Given the description of an element on the screen output the (x, y) to click on. 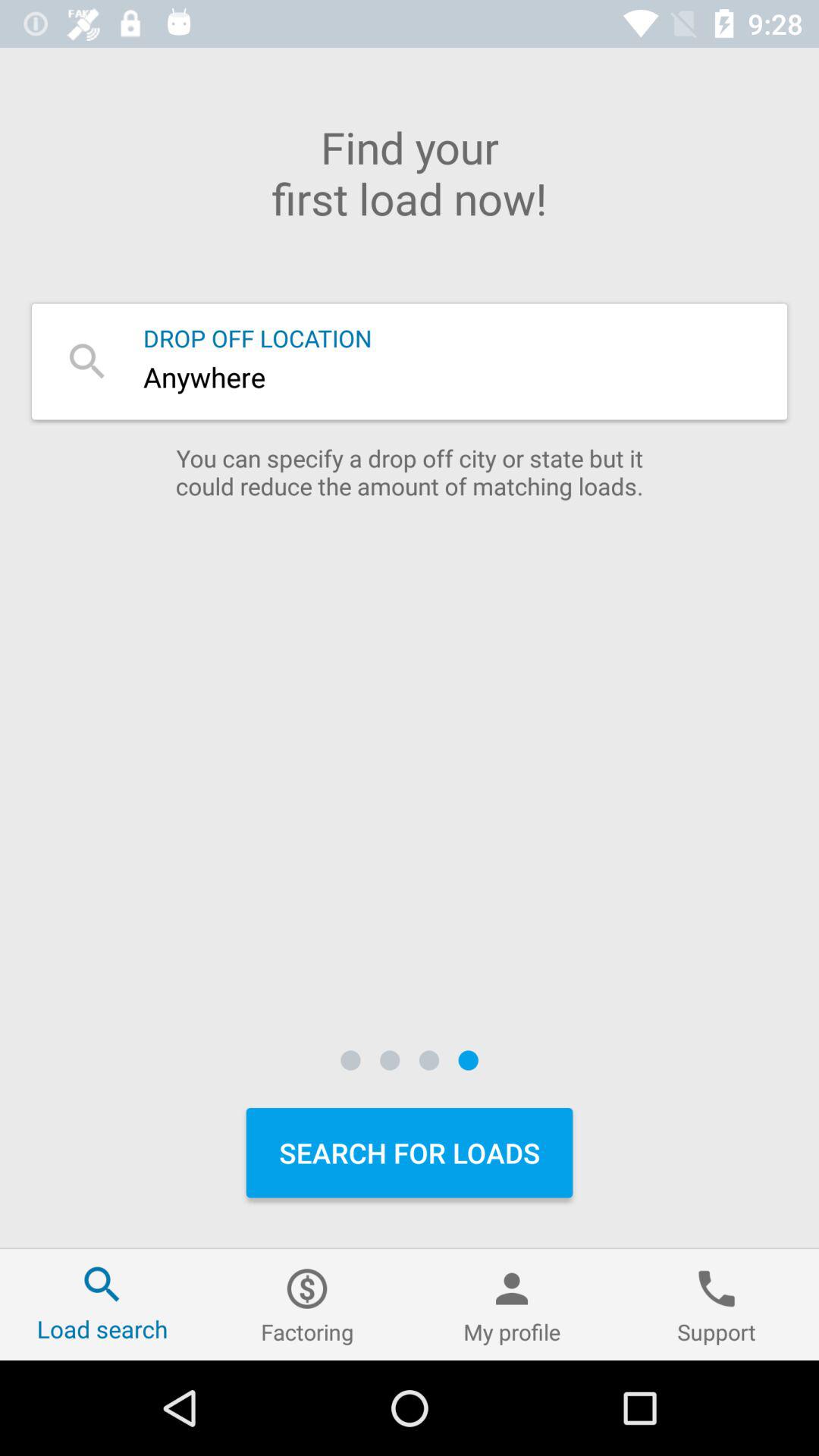
launch the icon next to the my profile (306, 1304)
